Given the description of an element on the screen output the (x, y) to click on. 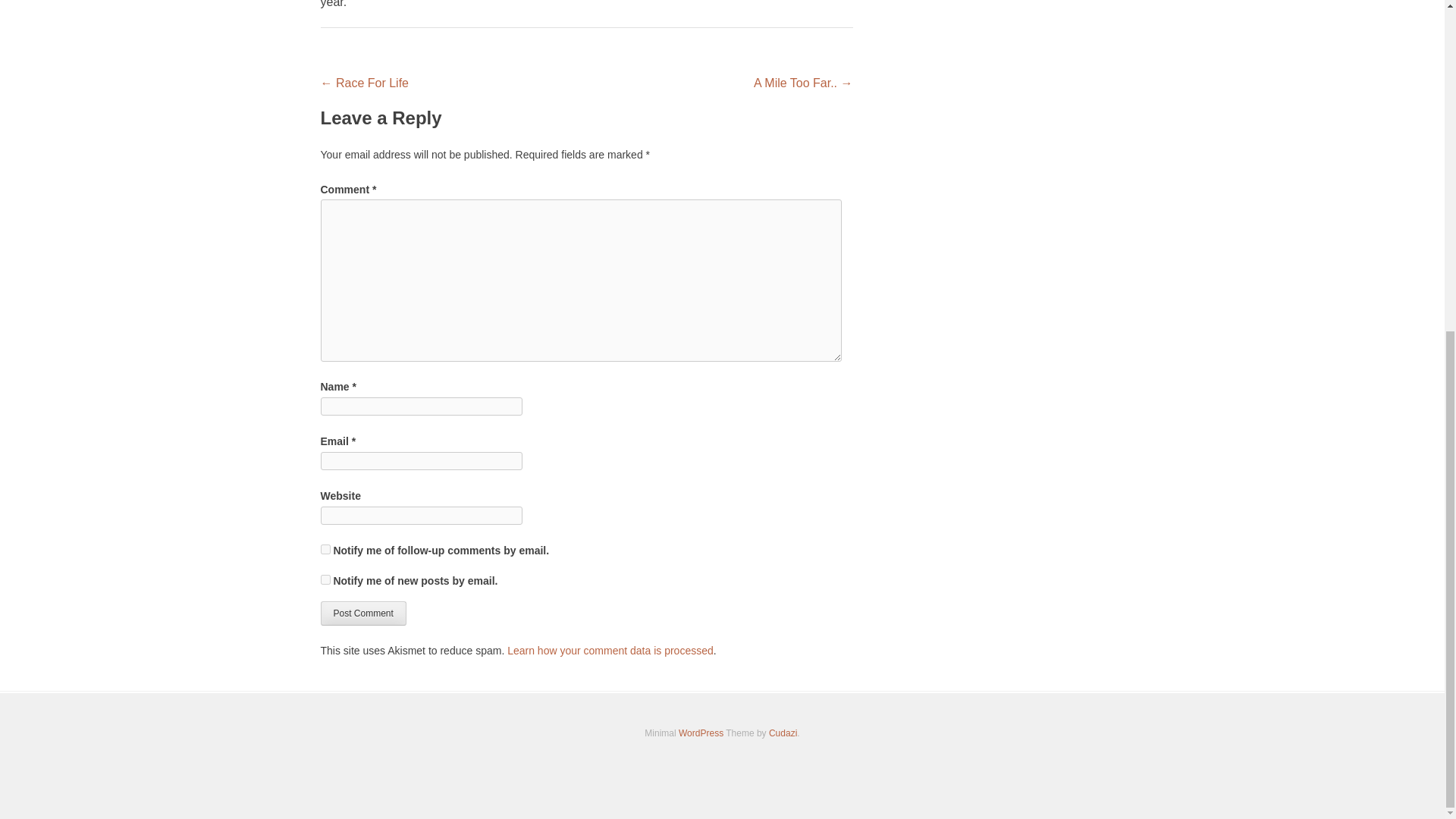
Learn how your comment data is processed (609, 650)
WordPress (700, 733)
Post Comment (363, 613)
Cudazi (782, 733)
Post Comment (363, 613)
subscribe (325, 549)
subscribe (325, 579)
